Given the description of an element on the screen output the (x, y) to click on. 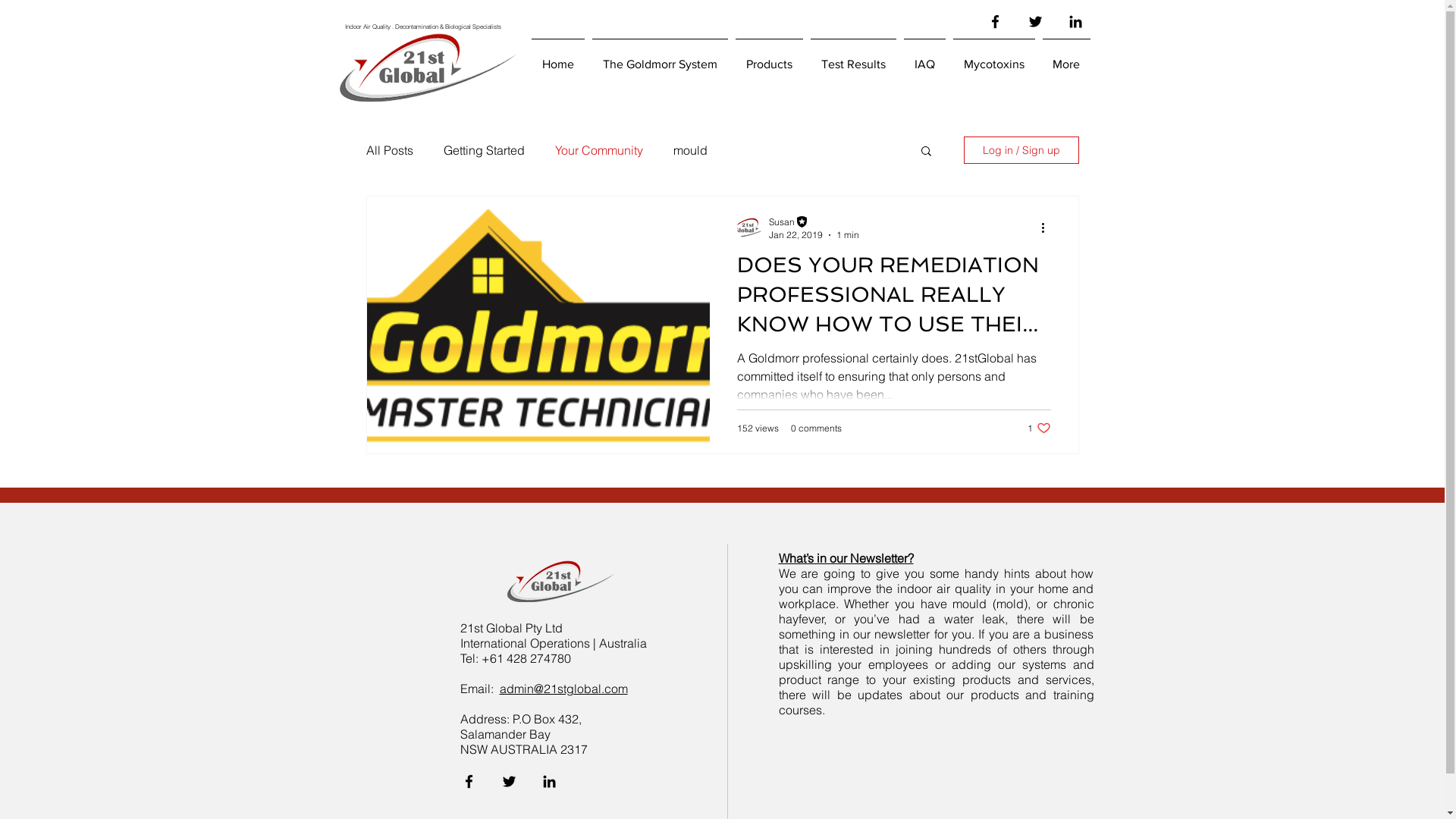
0 comments Element type: text (815, 427)
Getting Started Element type: text (483, 149)
Mycotoxins Element type: text (993, 57)
The Goldmorr System Element type: text (659, 57)
Home Element type: text (557, 57)
All Posts Element type: text (388, 149)
mould Element type: text (690, 149)
admin@21stglobal.com Element type: text (562, 688)
Test Results Element type: text (853, 57)
Your Community Element type: text (599, 149)
1 like. Post not marked as liked
1 Element type: text (1038, 427)
IAQ Element type: text (923, 57)
Log in / Sign up Element type: text (1020, 149)
Products Element type: text (768, 57)
